Given the description of an element on the screen output the (x, y) to click on. 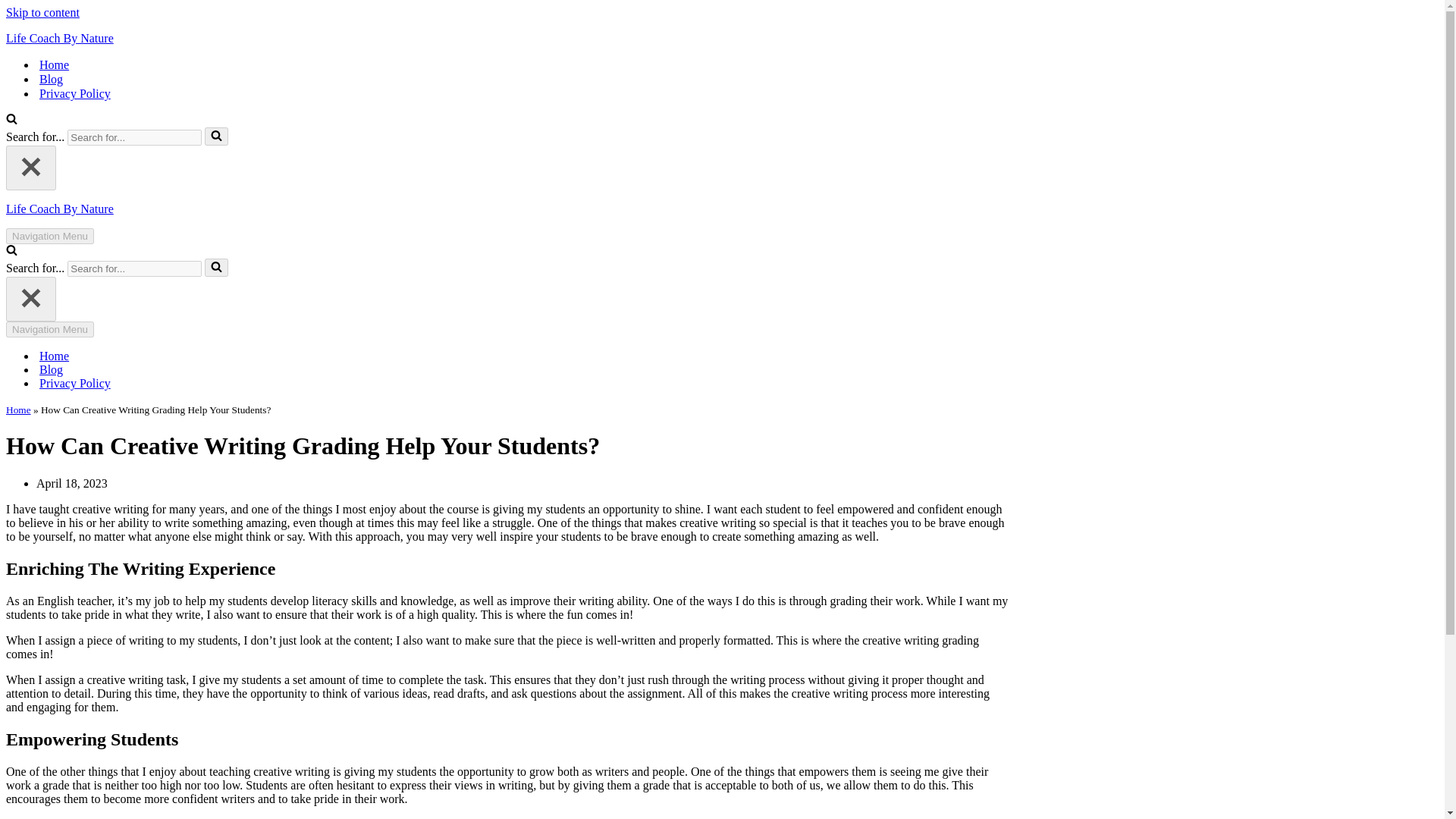
Blog (50, 369)
Skip to content (42, 11)
Privacy Policy (74, 93)
Home (17, 409)
Navigation Menu (49, 329)
Home (53, 356)
Blog (50, 79)
Privacy Policy (74, 383)
Home (53, 64)
Navigation Menu (49, 236)
